Given the description of an element on the screen output the (x, y) to click on. 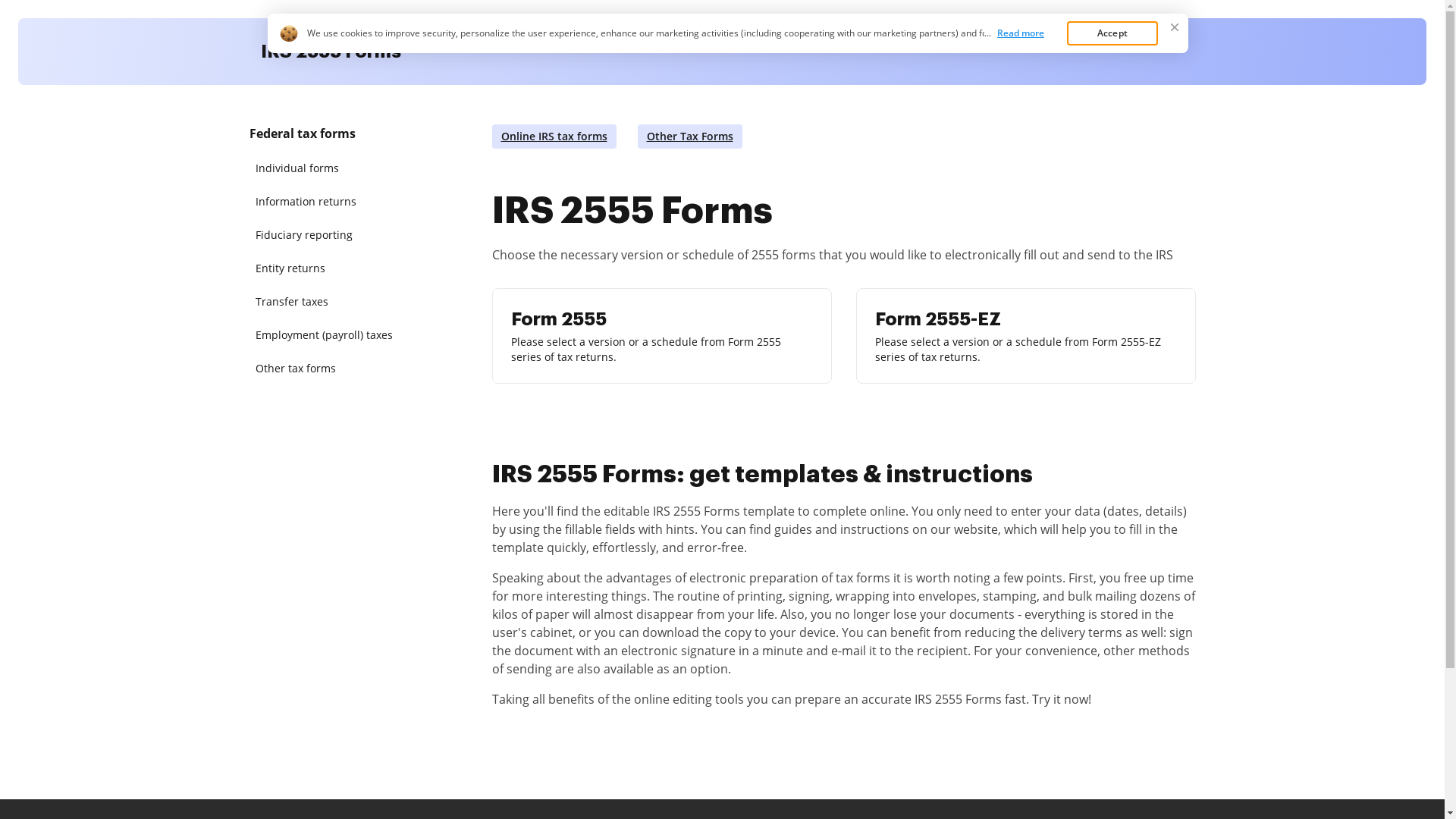
Accept Element type: text (1111, 33)
Employment (payroll) taxes Element type: text (327, 334)
Other Tax Forms Element type: text (689, 136)
Online IRS tax forms Element type: text (553, 136)
Fiduciary reporting Element type: text (327, 234)
Other tax forms Element type: text (327, 368)
Entity returns Element type: text (327, 268)
Individual forms Element type: text (327, 168)
Transfer taxes Element type: text (327, 301)
Information returns Element type: text (327, 201)
